Given the description of an element on the screen output the (x, y) to click on. 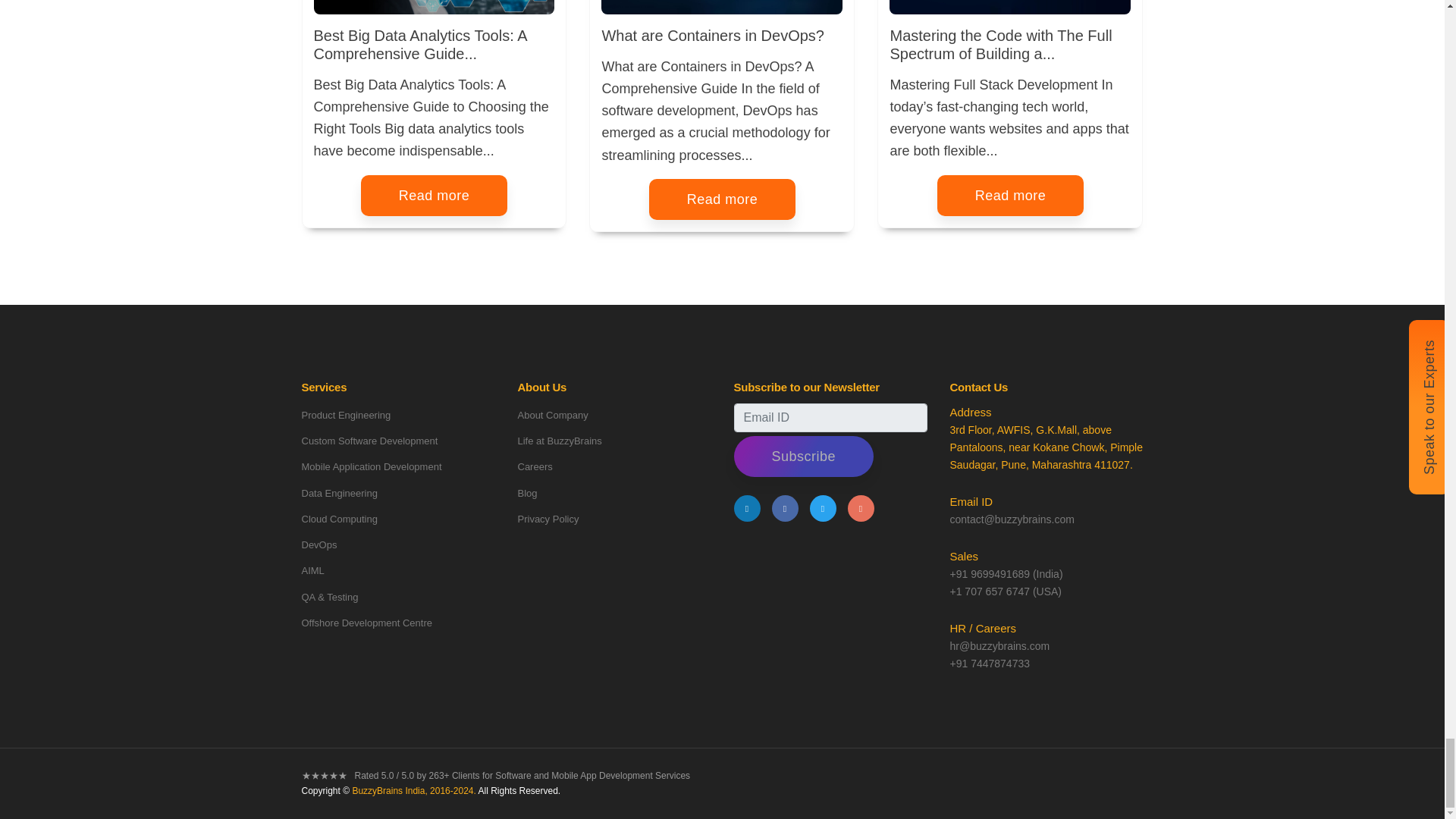
Mobile Application Development (371, 466)
Subscribe (804, 455)
Product Engineering (346, 414)
Custom Software Development (369, 440)
AIML (312, 570)
Data Engineering (339, 492)
DevOps (319, 544)
Cloud Computing (339, 518)
Read more (722, 199)
Read more (434, 195)
